Given the description of an element on the screen output the (x, y) to click on. 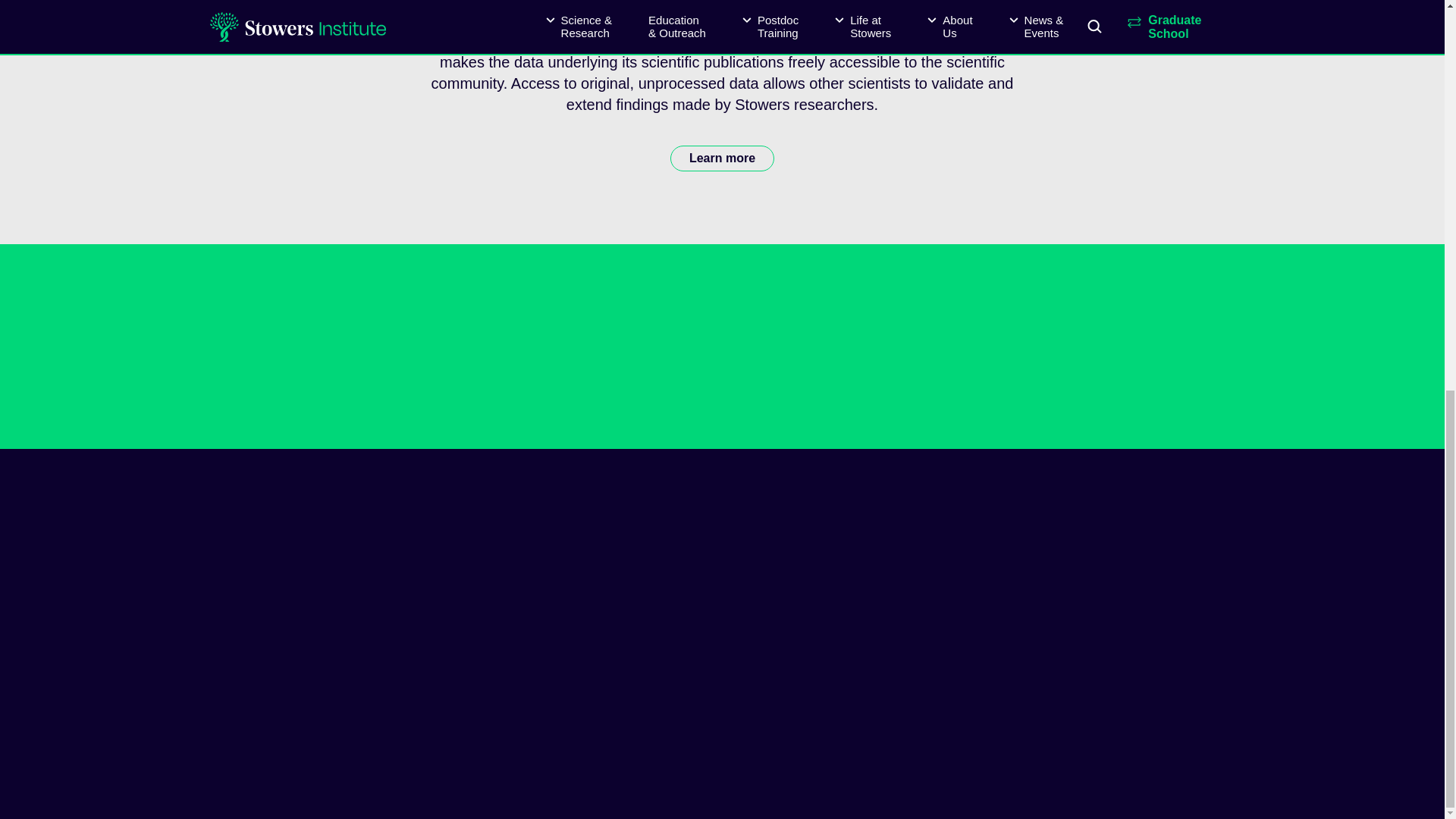
Learn more (721, 157)
